Given the description of an element on the screen output the (x, y) to click on. 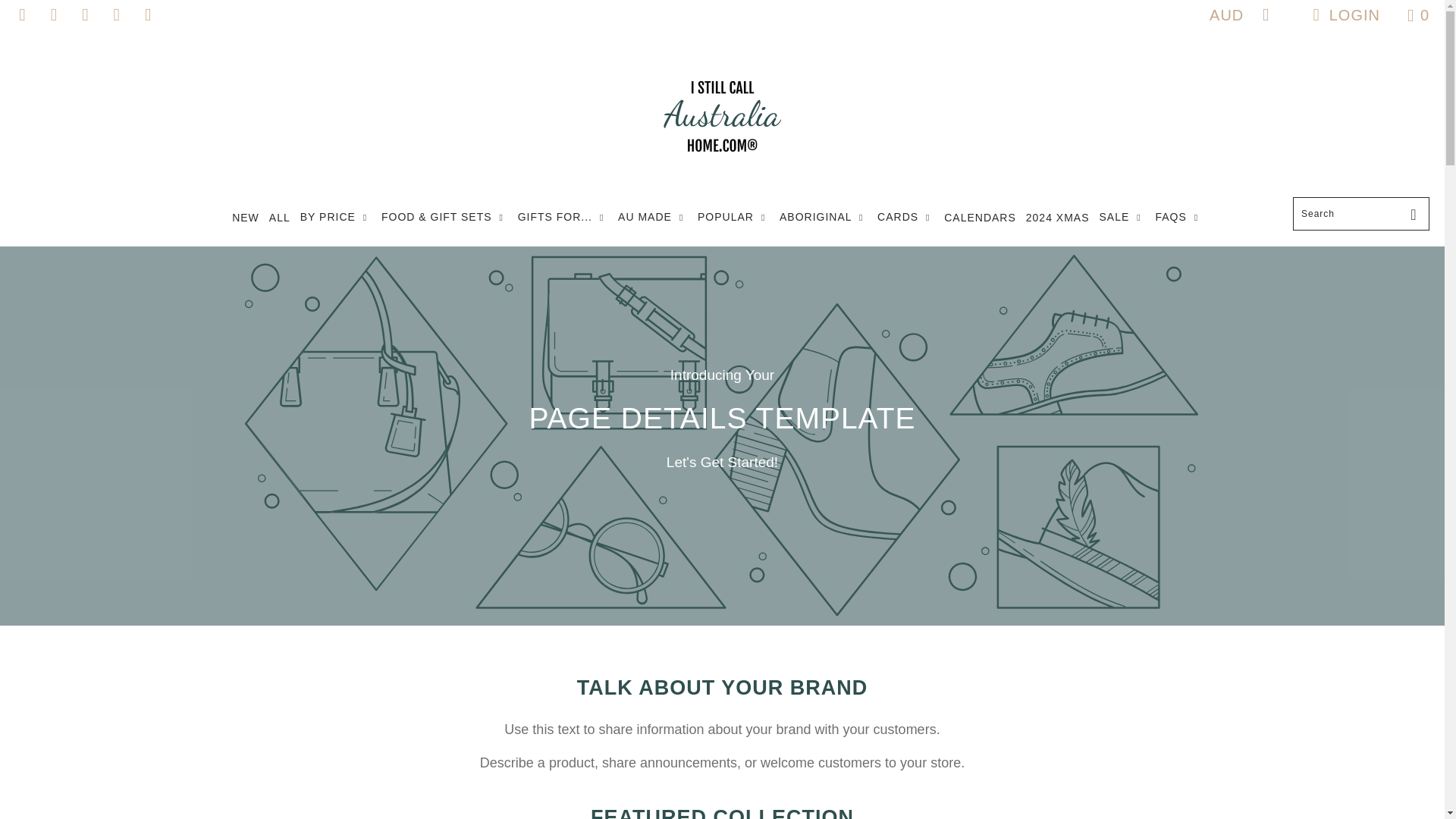
I Still Call Australia Home on Facebook (52, 14)
I Still Call Australia Home (722, 117)
I Still Call Australia Home on Instagram (84, 14)
Email I Still Call Australia Home (20, 14)
I Still Call Australia Home on Pinterest (114, 14)
My Account  (1342, 15)
I Still Call Australia Home on Twitter (146, 14)
